Given the description of an element on the screen output the (x, y) to click on. 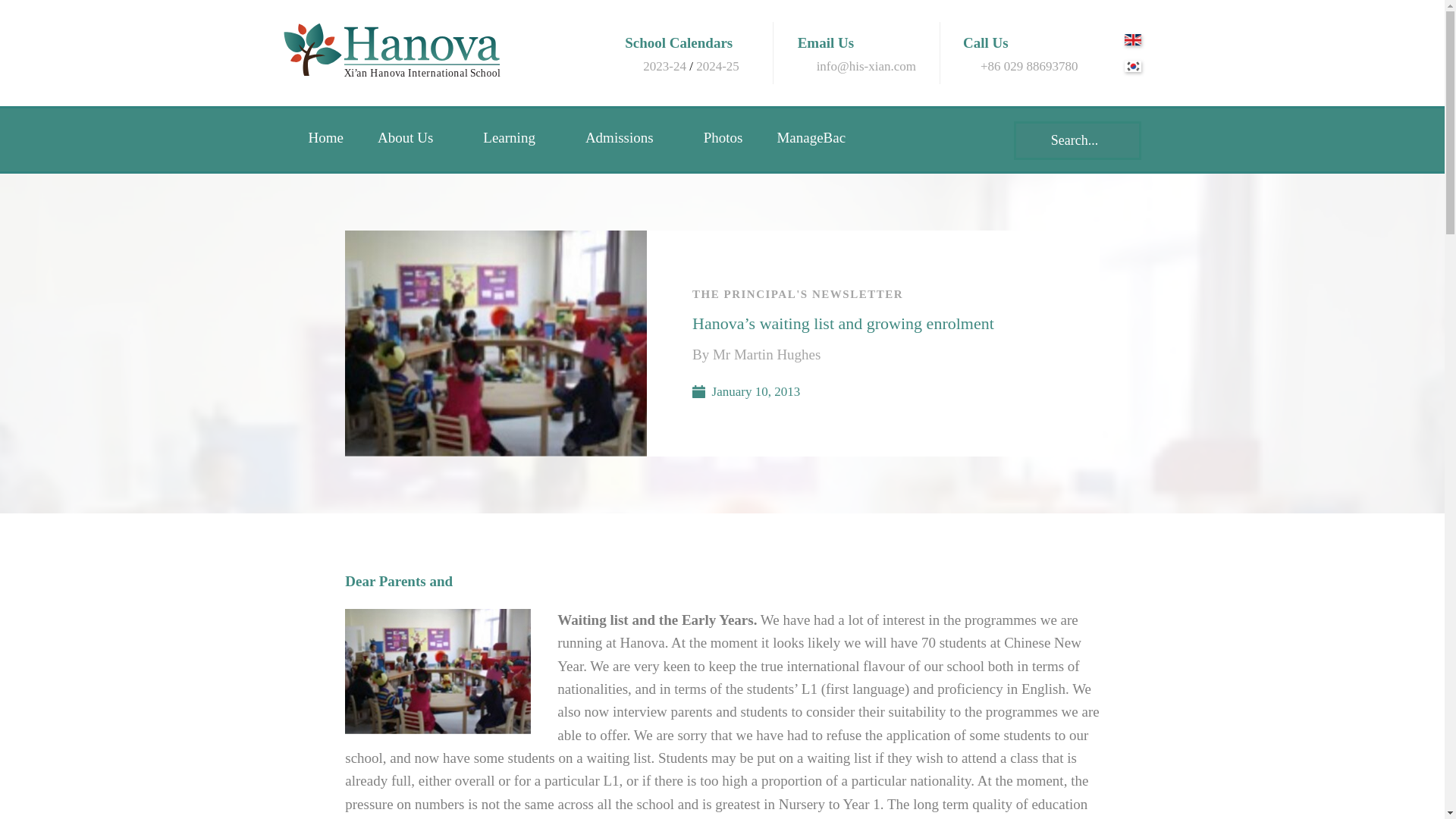
2023-24 (664, 65)
Photos (732, 138)
Admissions (636, 138)
About Us (422, 138)
Learning (526, 138)
2024-25 (717, 65)
Home (335, 138)
